Given the description of an element on the screen output the (x, y) to click on. 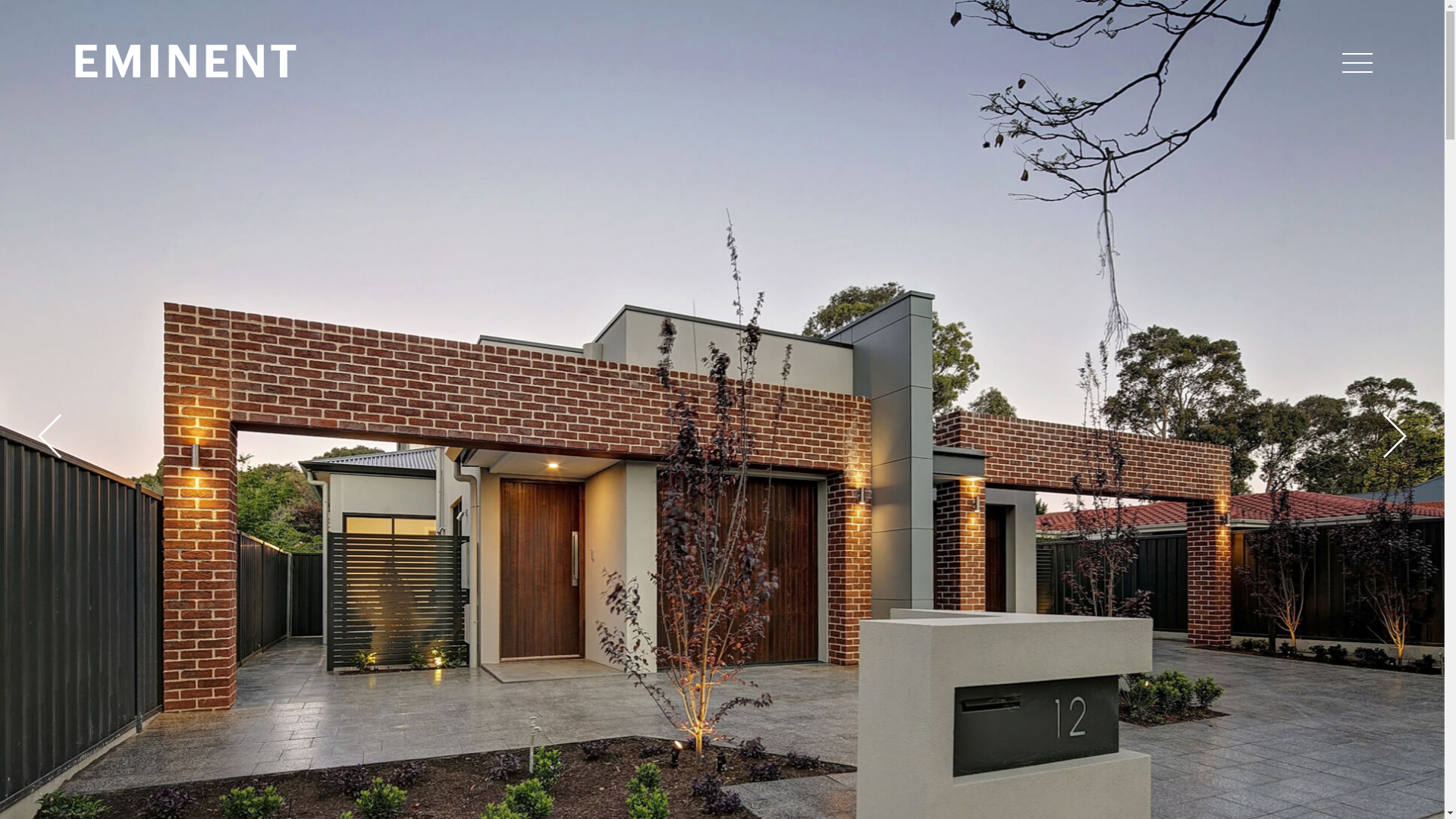
EMINENT Element type: text (186, 62)
